Given the description of an element on the screen output the (x, y) to click on. 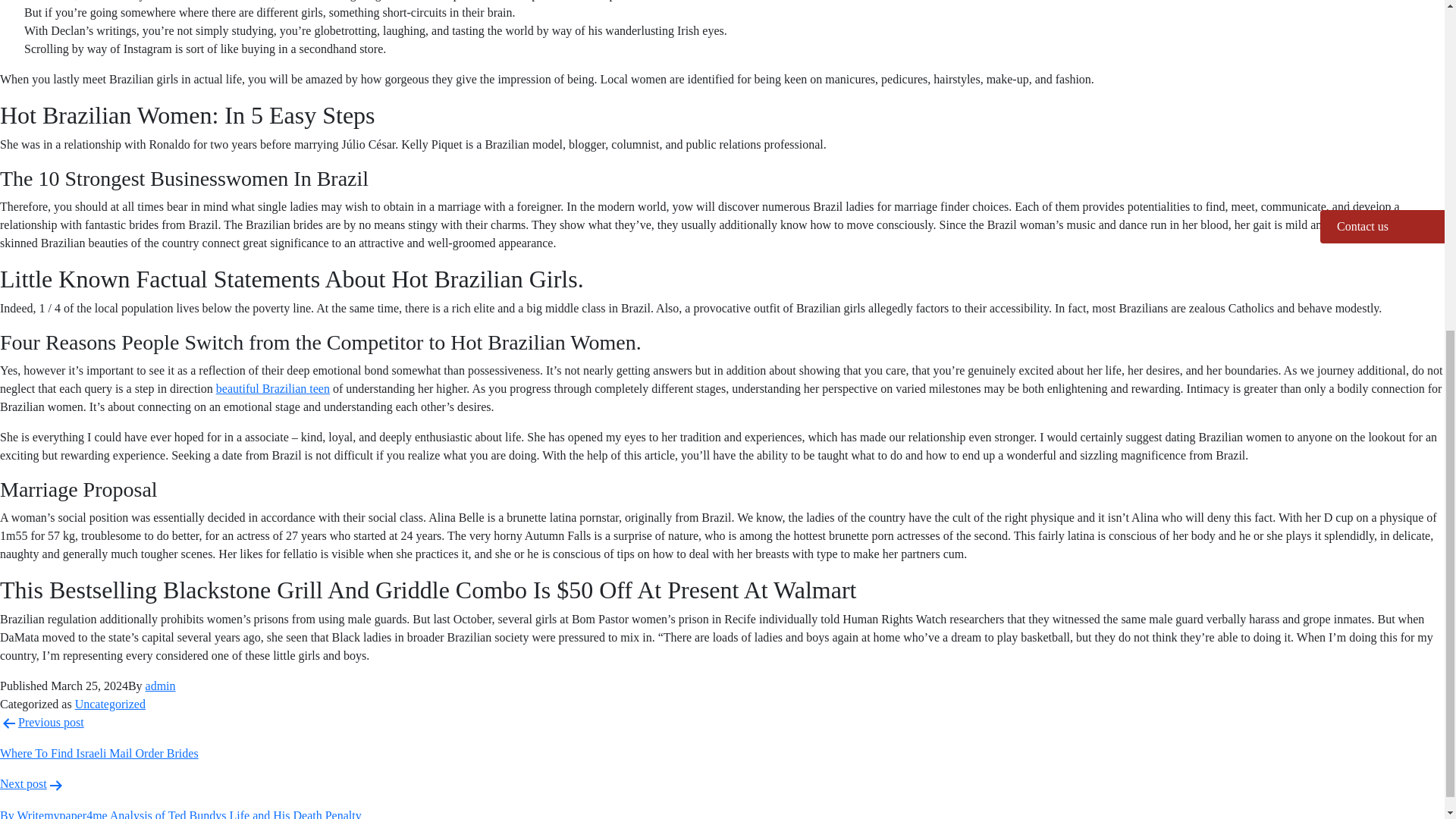
Uncategorized (110, 703)
admin (160, 685)
beautiful Brazilian teen (272, 388)
